Given the description of an element on the screen output the (x, y) to click on. 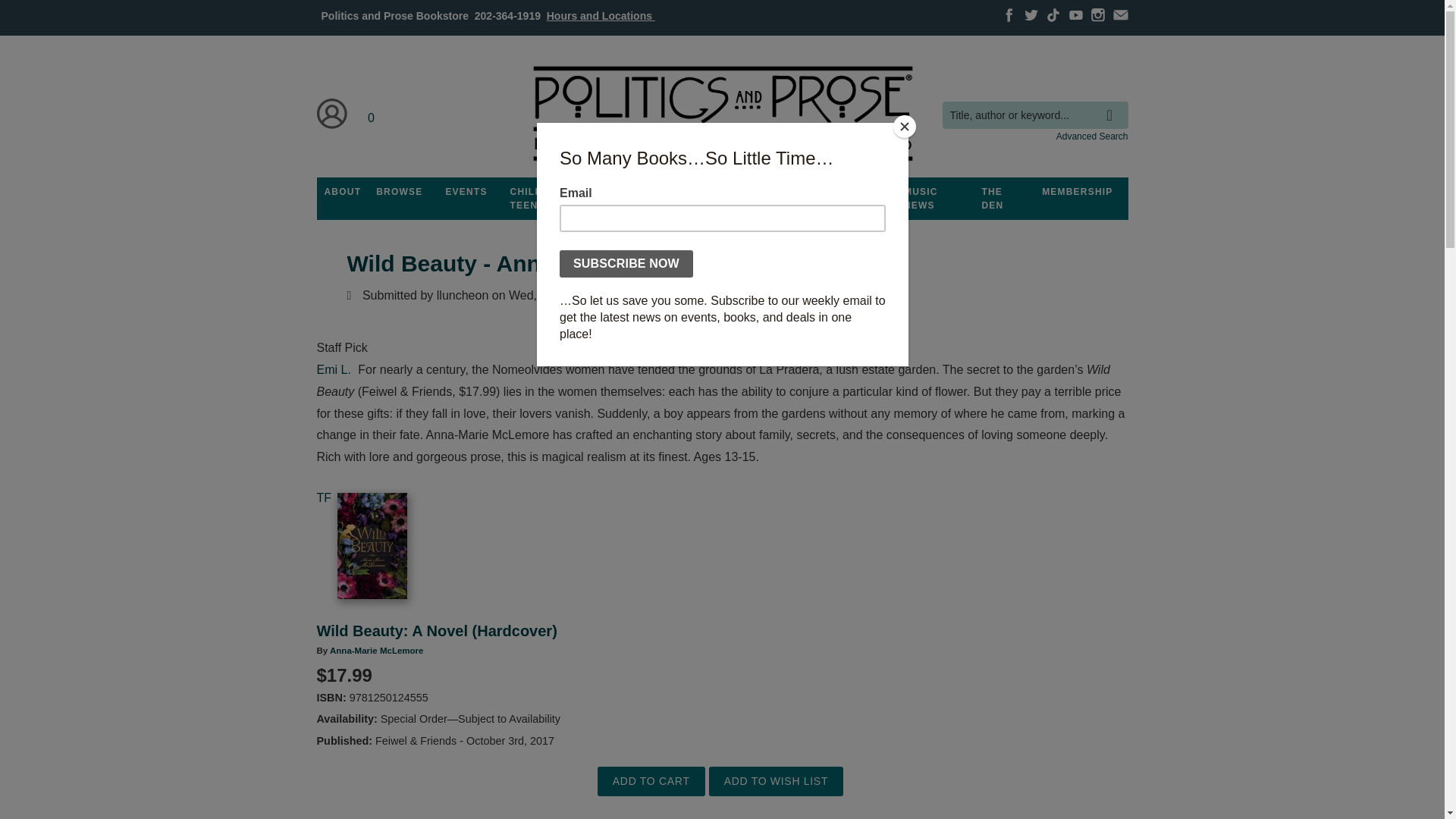
PROGRAMS (633, 191)
EVENTS (465, 191)
My Account (332, 114)
Hours and Locations  (601, 15)
See our store ours and locations (601, 15)
search (1112, 103)
Add to Cart (650, 781)
BROWSE (398, 191)
Advanced Search (1092, 136)
SUBSCRIPTIONS (722, 191)
Visit your cart (371, 114)
Cart (371, 114)
ABOUT (343, 191)
See information about our programs (633, 191)
